Given the description of an element on the screen output the (x, y) to click on. 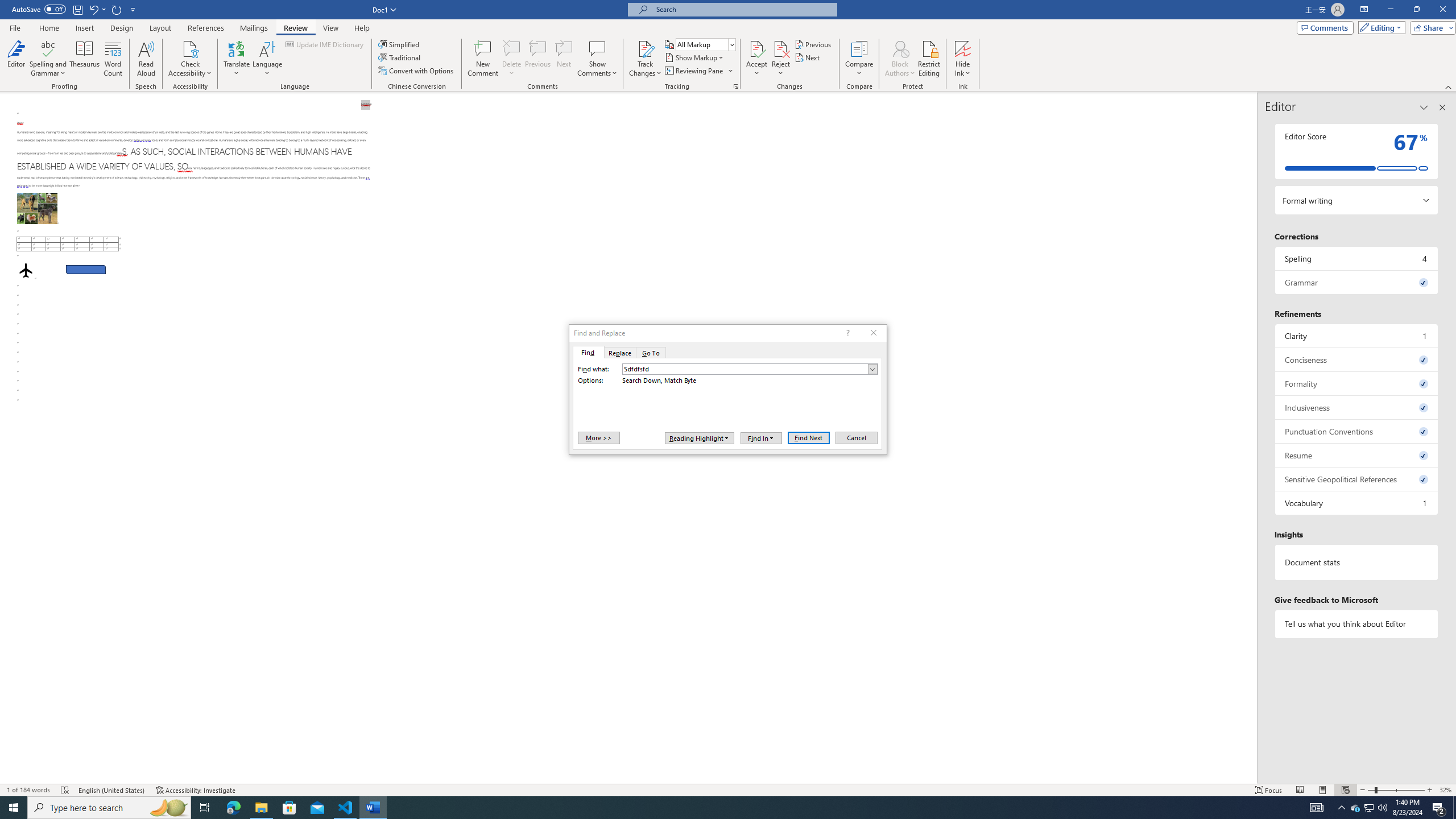
Word Count (113, 58)
Change Tracking Options... (735, 85)
Display for Review (705, 44)
Grammar, 0 issues. Press space or enter to review items. (1356, 282)
Accept and Move to Next (756, 48)
Delete (511, 48)
Previous (813, 44)
Airplane with solid fill (25, 270)
